Given the description of an element on the screen output the (x, y) to click on. 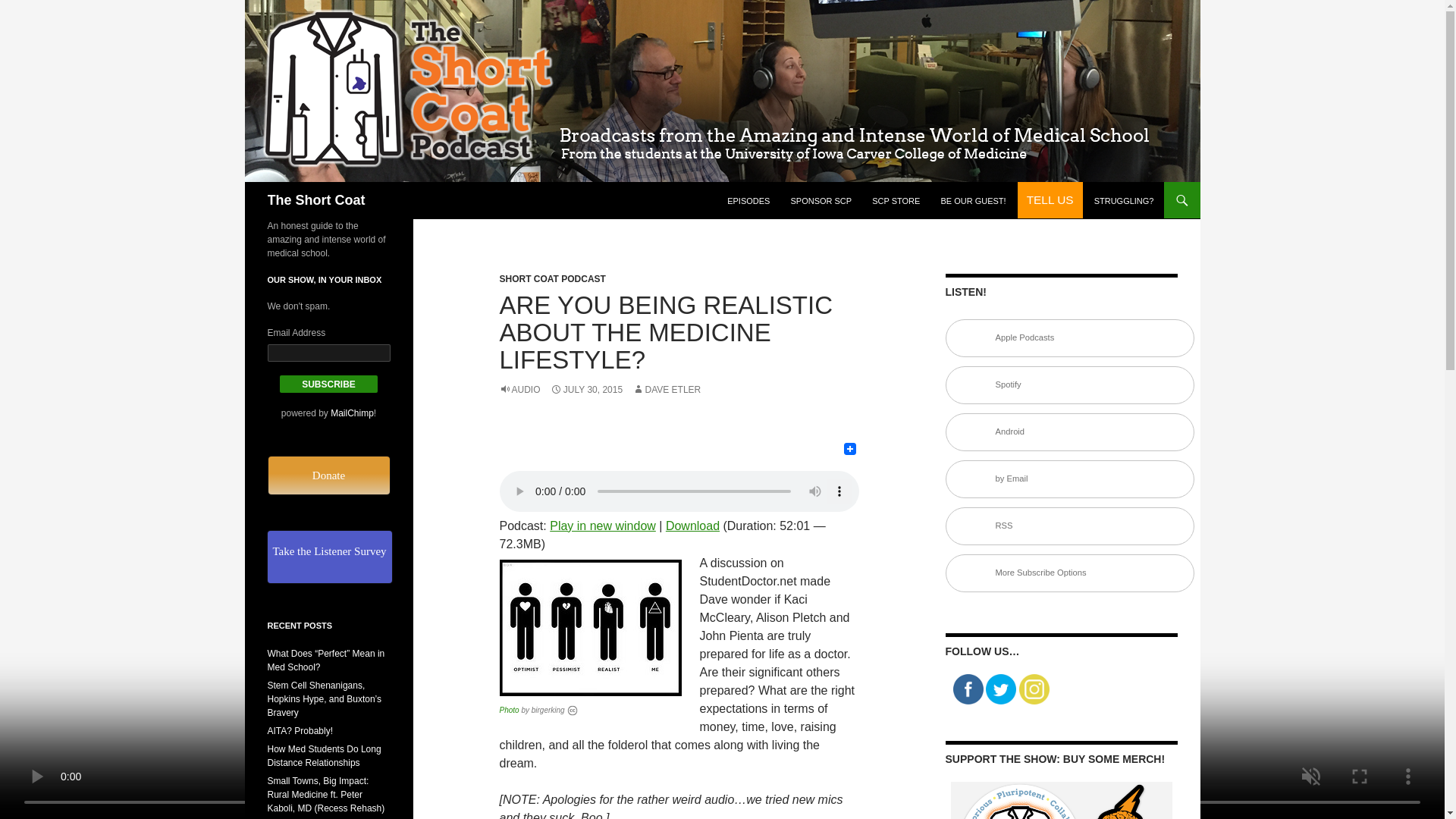
That's me by birgerking (590, 627)
calltoaction (1050, 199)
SPONSOR SCP (820, 200)
STRUGGLING? (1123, 200)
Image inserted by the ImageInject WordPress plugin (508, 709)
SCP STORE (895, 200)
TELL US (1050, 199)
Play in new window (603, 525)
EPISODES (747, 200)
The Short Coat (315, 199)
Subscribe on Spotify (1068, 385)
Subscribe on Android (1068, 432)
DAVE ETLER (665, 389)
AUDIO (519, 389)
Download (692, 525)
